Given the description of an element on the screen output the (x, y) to click on. 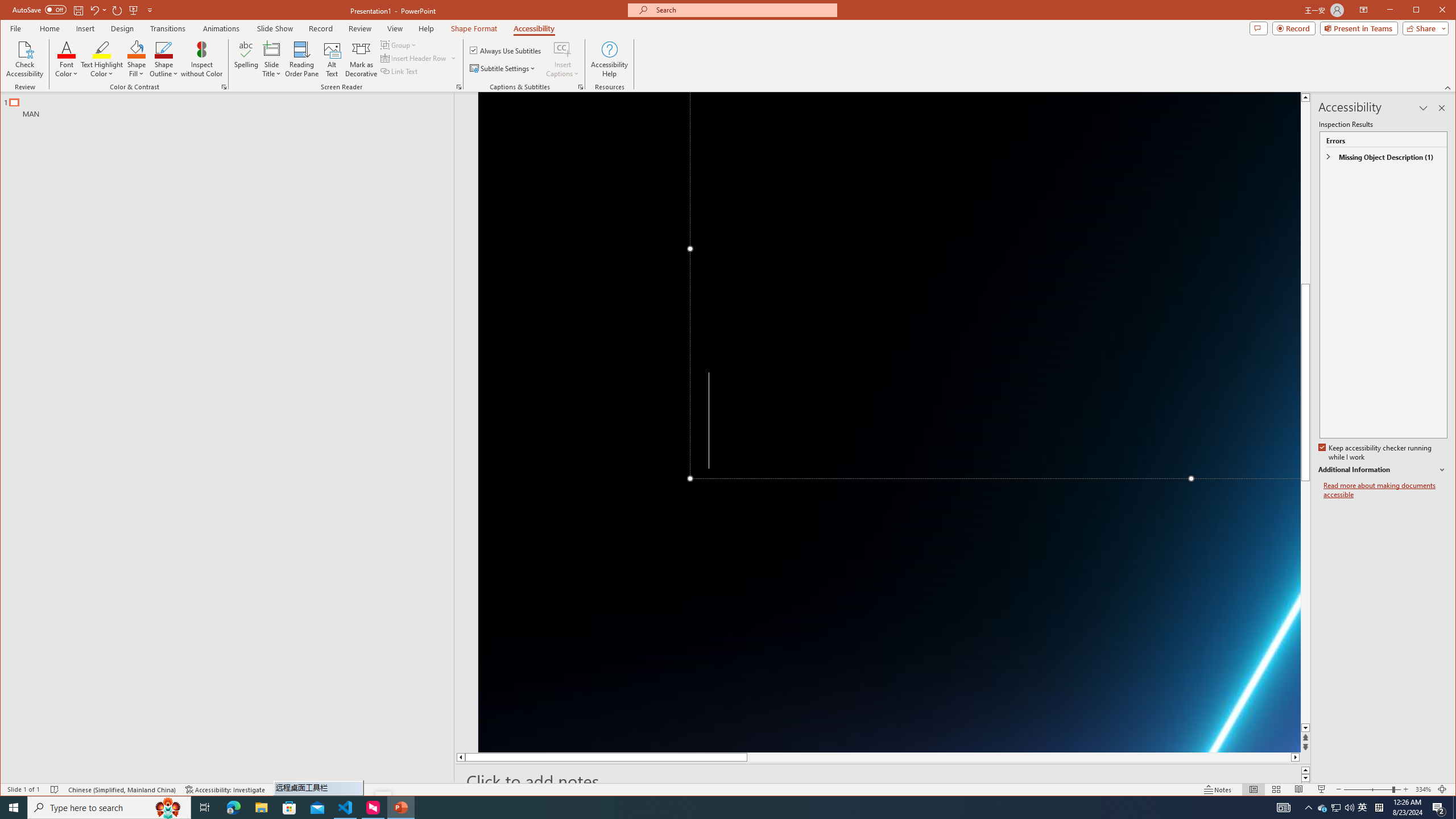
Notification Chevron (1335, 807)
Captions & Subtitles (1308, 807)
Shape Outline (580, 86)
Outline (163, 59)
Group (231, 104)
